Given the description of an element on the screen output the (x, y) to click on. 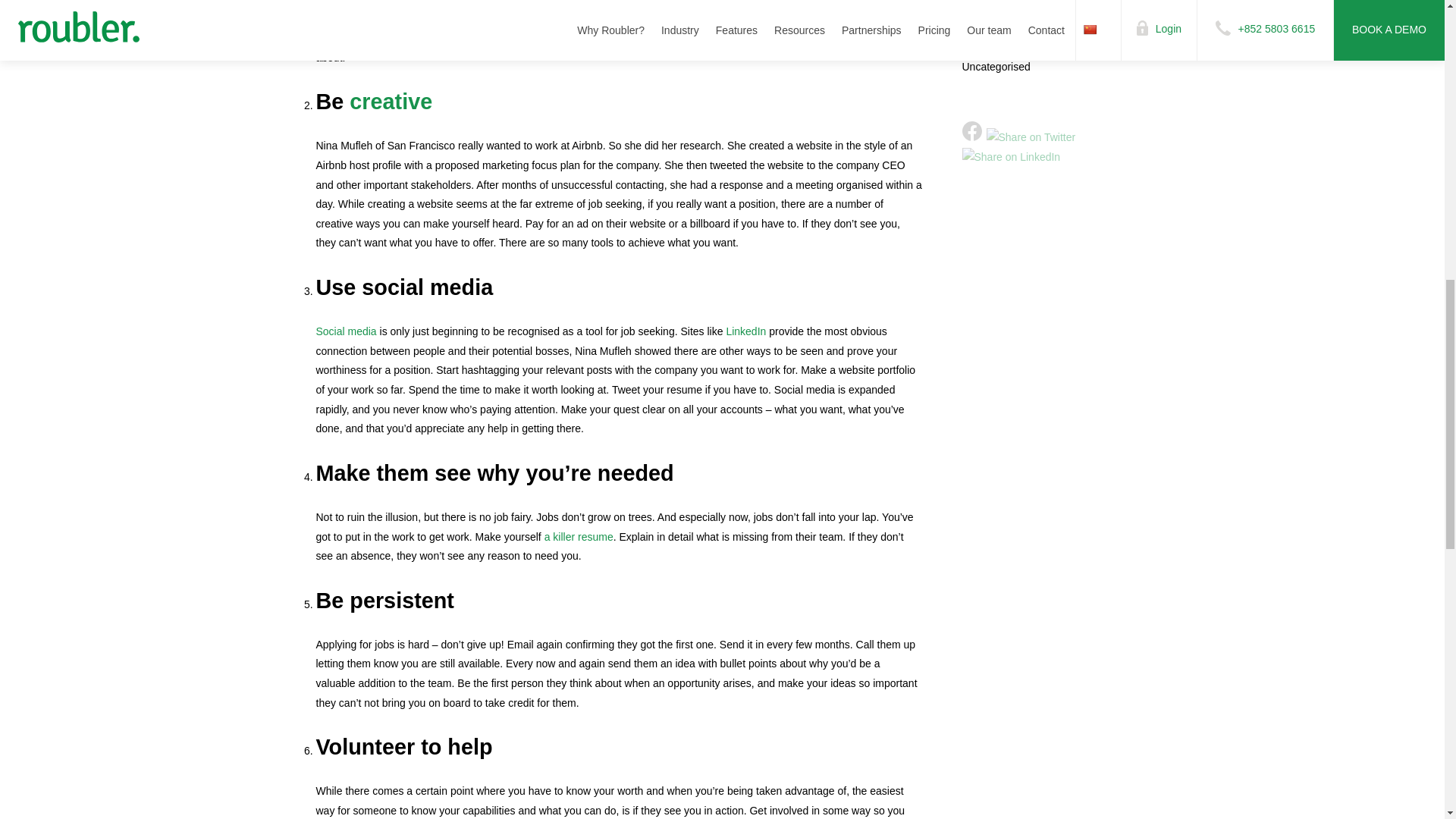
Share on Facebook (970, 130)
Share on LinkedIn (1009, 157)
Share on Twitter (1030, 137)
